Given the description of an element on the screen output the (x, y) to click on. 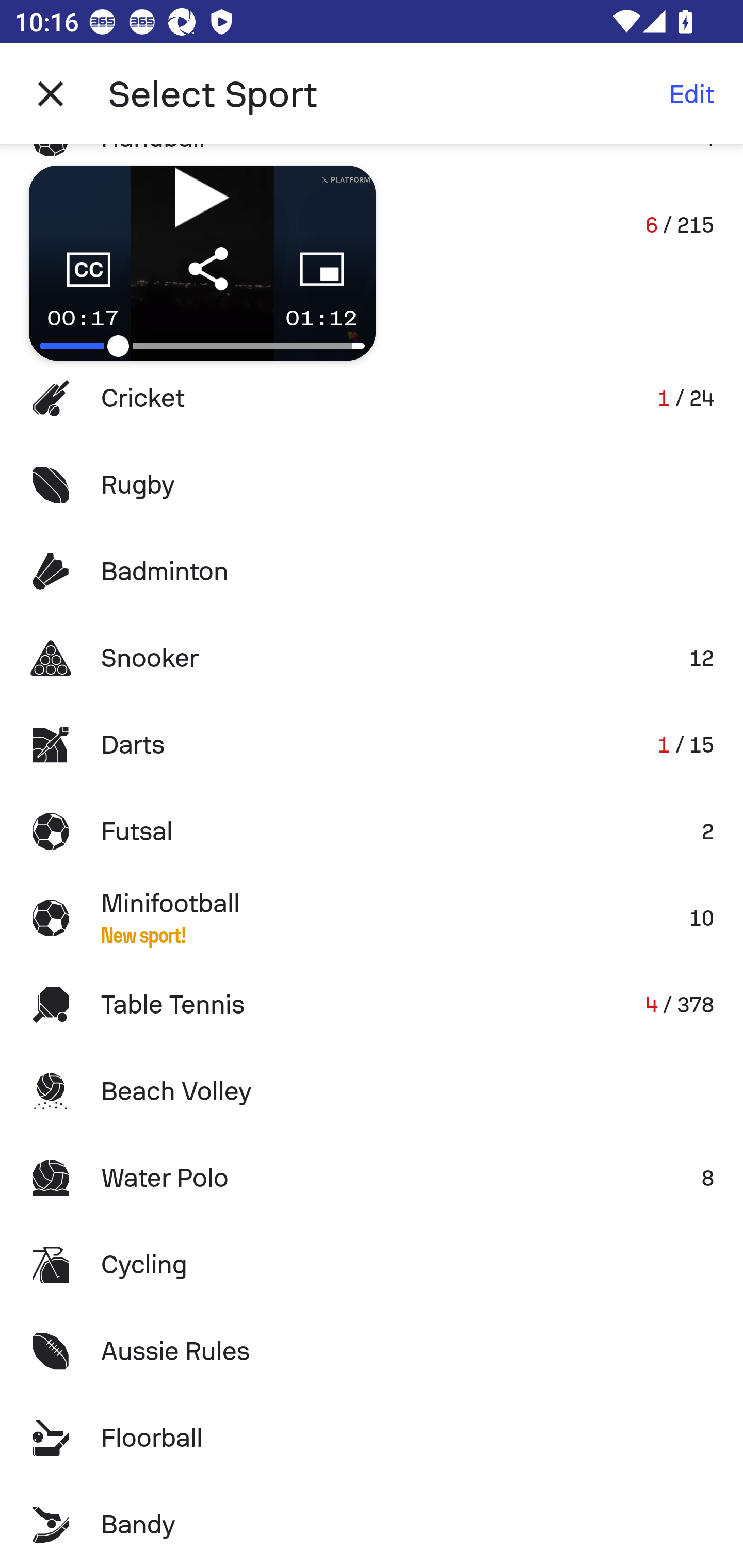
Edit (691, 93)
Cricket 1 / 24 (371, 398)
Rugby (371, 485)
Badminton (371, 571)
Snooker 12 (371, 657)
Darts 1 / 15 (371, 744)
Futsal 2 (371, 831)
Minifootball New sport! 10 (371, 917)
Table Tennis 4 / 378 (371, 1004)
Beach Volley (371, 1091)
Water Polo 8 (371, 1178)
Cycling (371, 1264)
Aussie Rules (371, 1350)
Floorball (371, 1437)
Bandy (371, 1524)
